Given the description of an element on the screen output the (x, y) to click on. 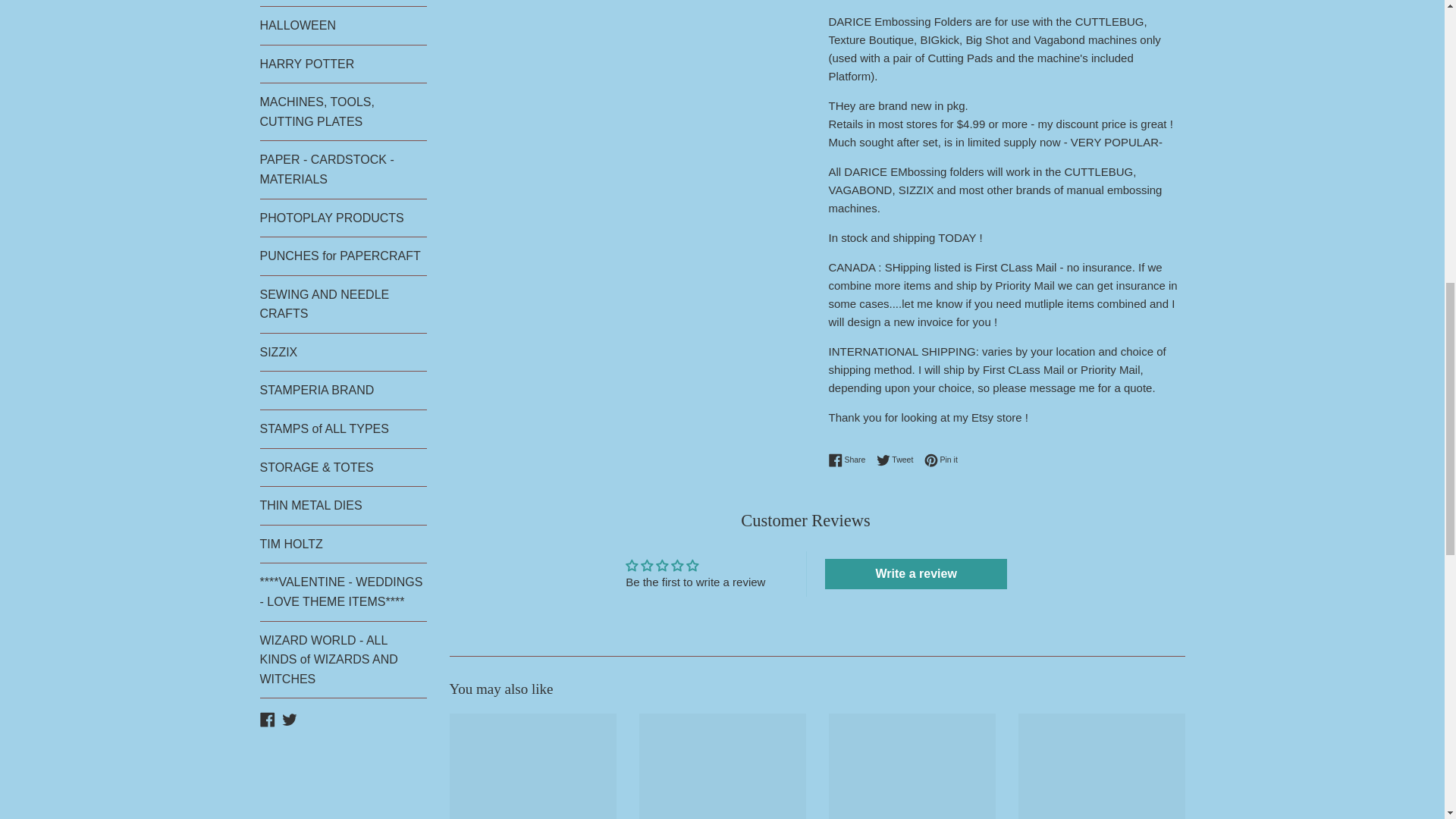
THIN METAL DIES (342, 505)
PAPER - CARDSTOCK - MATERIALS (342, 169)
BARBS CRAFT DEPOT  on Facebook (267, 717)
STAMPS of ALL TYPES (342, 428)
HARRY POTTER (342, 64)
PHOTOPLAY PRODUCTS (342, 218)
MACHINES, TOOLS, CUTTING PLATES (342, 111)
Share on Facebook (850, 459)
BARBS CRAFT DEPOT  on Twitter (289, 717)
PUNCHES for PAPERCRAFT (342, 256)
HALLOWEEN (342, 25)
Pin on Pinterest (941, 459)
